Given the description of an element on the screen output the (x, y) to click on. 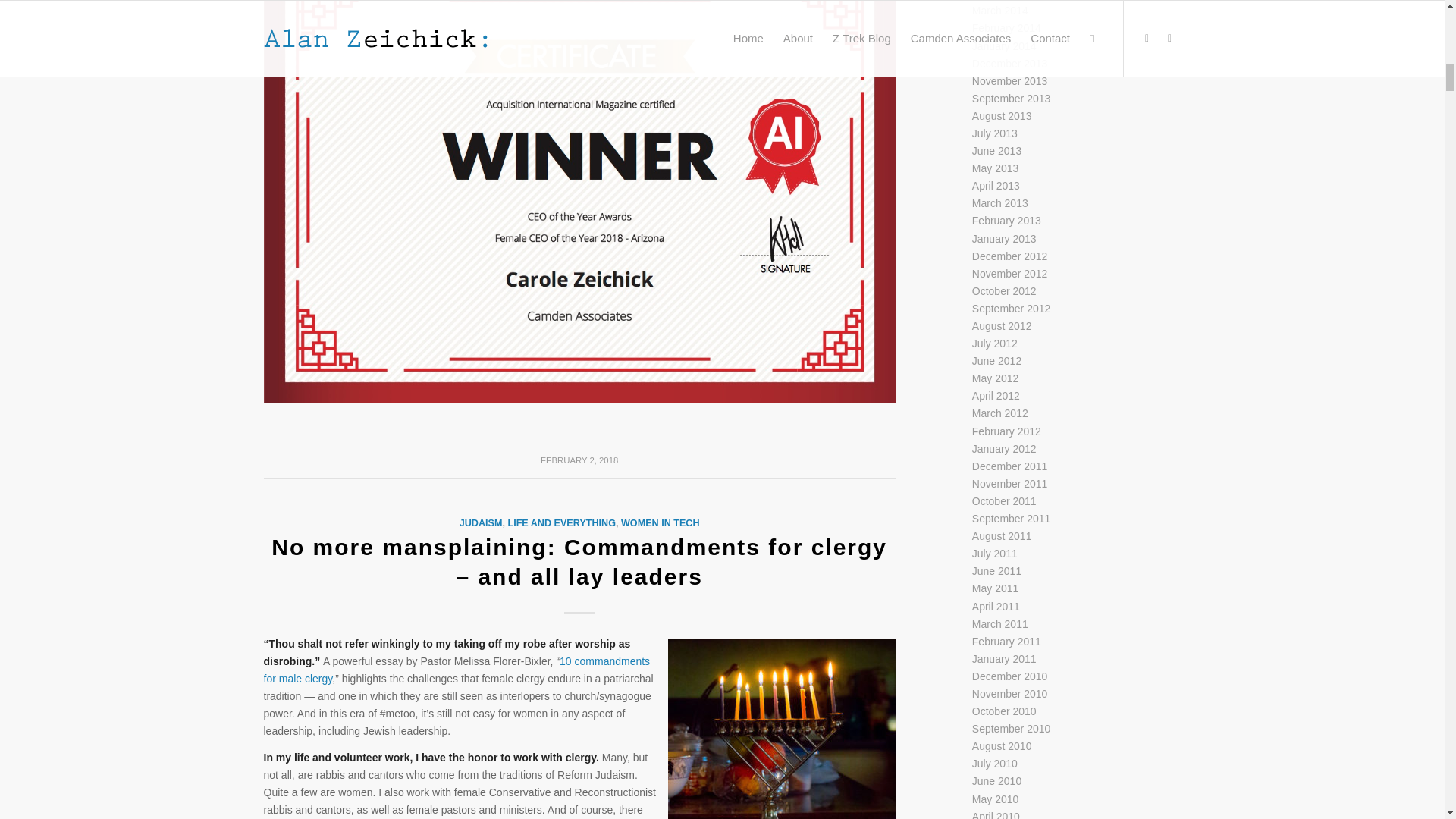
JUDAISM (481, 522)
10 commandments for male clergy (456, 669)
LIFE AND EVERYTHING (560, 522)
WOMEN IN TECH (660, 522)
